Given the description of an element on the screen output the (x, y) to click on. 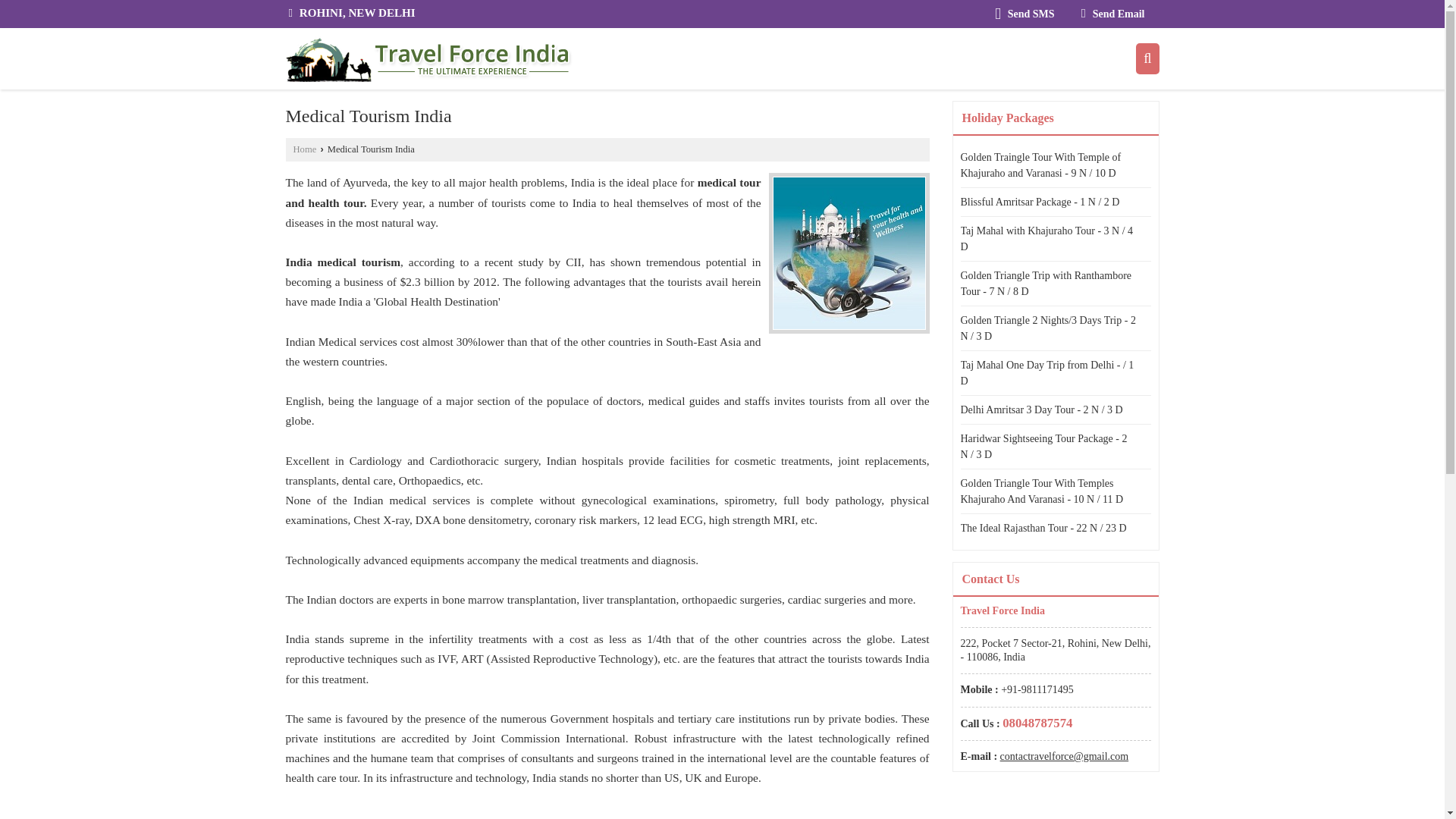
Travel Force India (428, 58)
Send SMS (1024, 14)
Send Email (1113, 14)
